Given the description of an element on the screen output the (x, y) to click on. 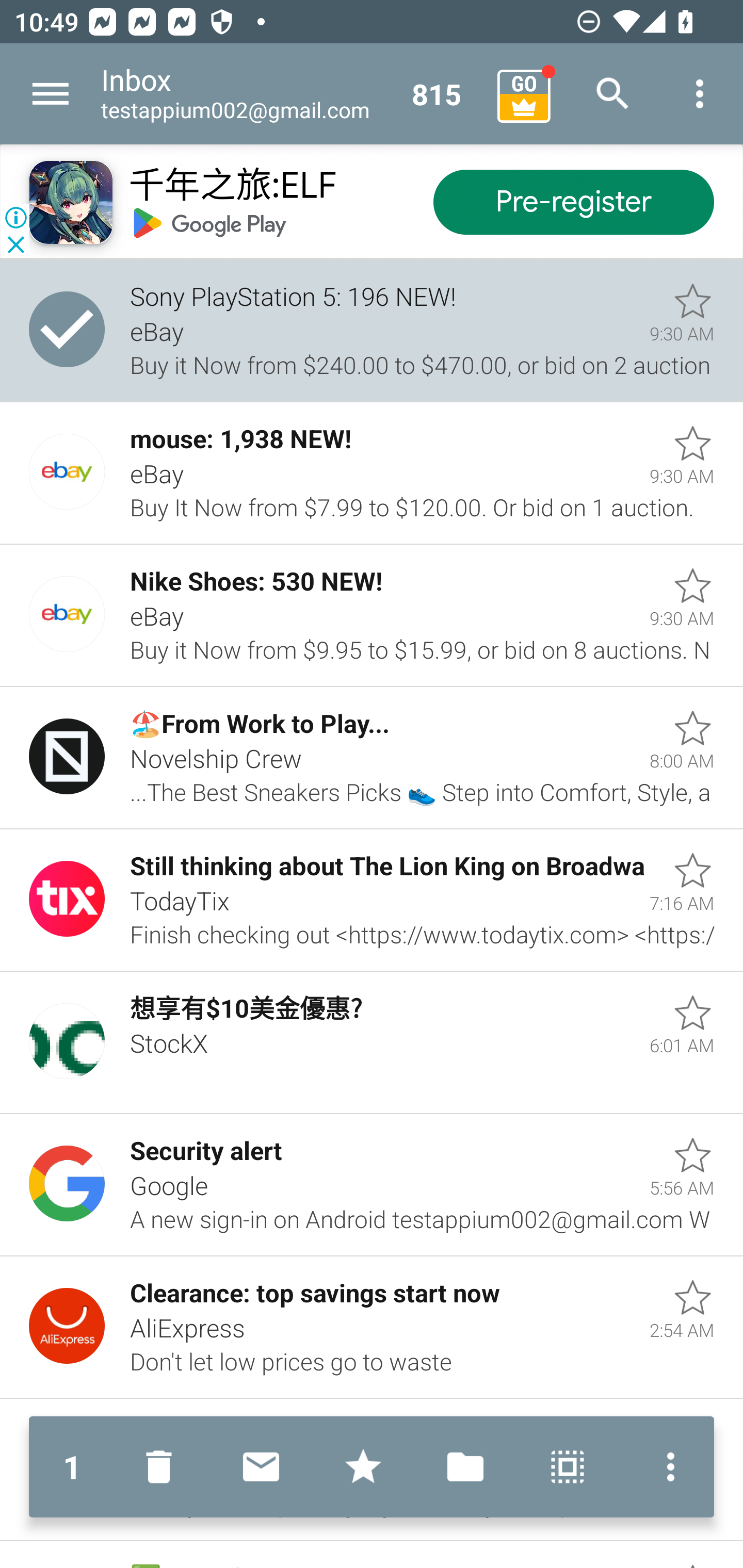
Navigate up (50, 93)
Inbox testappium002@gmail.com 815 (291, 93)
Search (612, 93)
More options (699, 93)
千年之旅:ELF (232, 186)
Pre-register (573, 202)
Unread, 想享有$10美金優惠?, StockX, 6:01 AM (371, 1043)
1 1 message (71, 1466)
Move to Deleted (162, 1466)
Mark unread (261, 1466)
Mark with stars (363, 1466)
Move to folder… (465, 1466)
Select all (567, 1466)
More options (666, 1466)
